Given the description of an element on the screen output the (x, y) to click on. 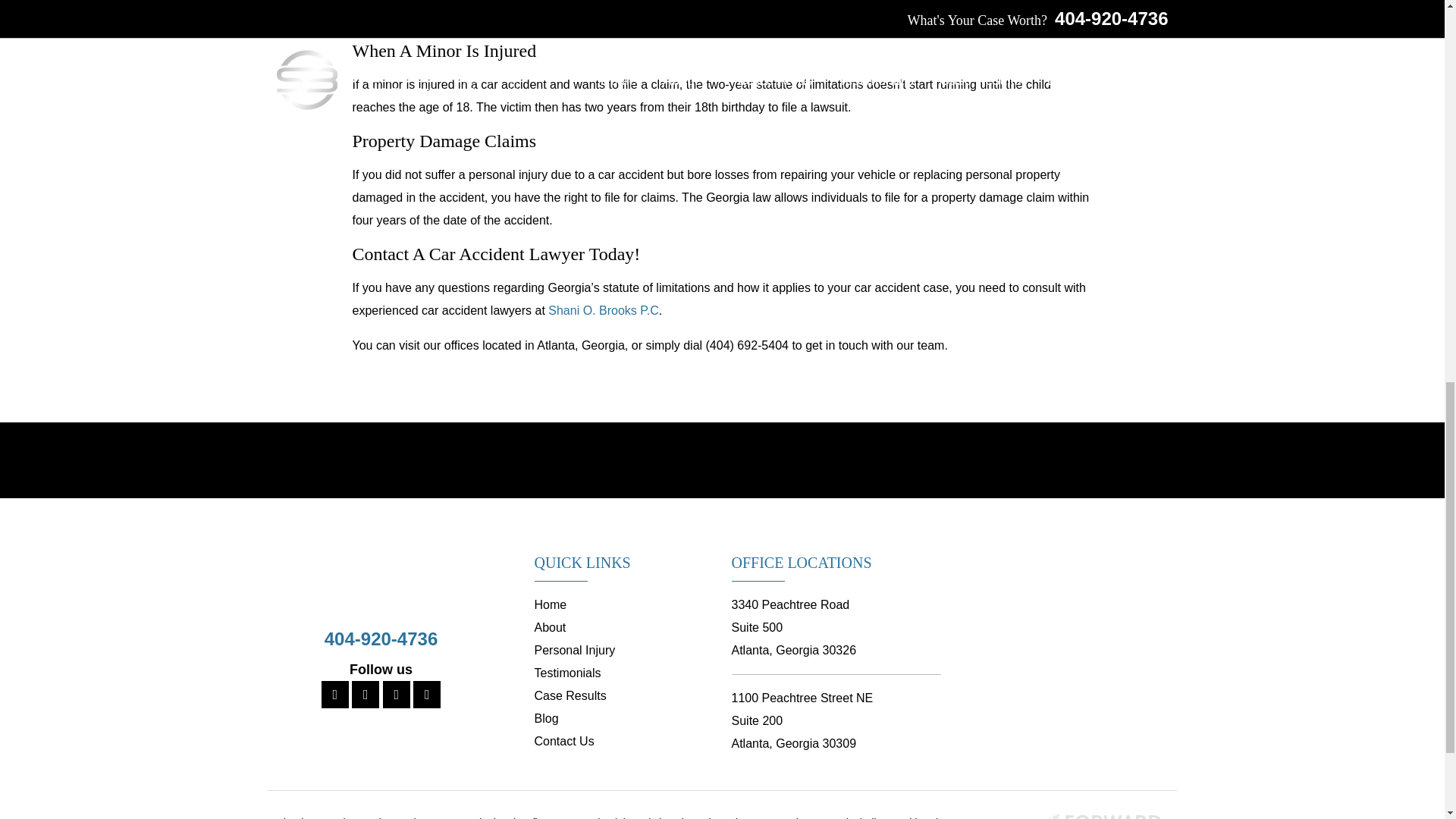
Shani O. Brooks P.C (603, 309)
Home (550, 604)
About (550, 626)
404-920-4736 (381, 638)
Testimonials (566, 672)
Personal Injury (574, 649)
Case Results (569, 695)
